Given the description of an element on the screen output the (x, y) to click on. 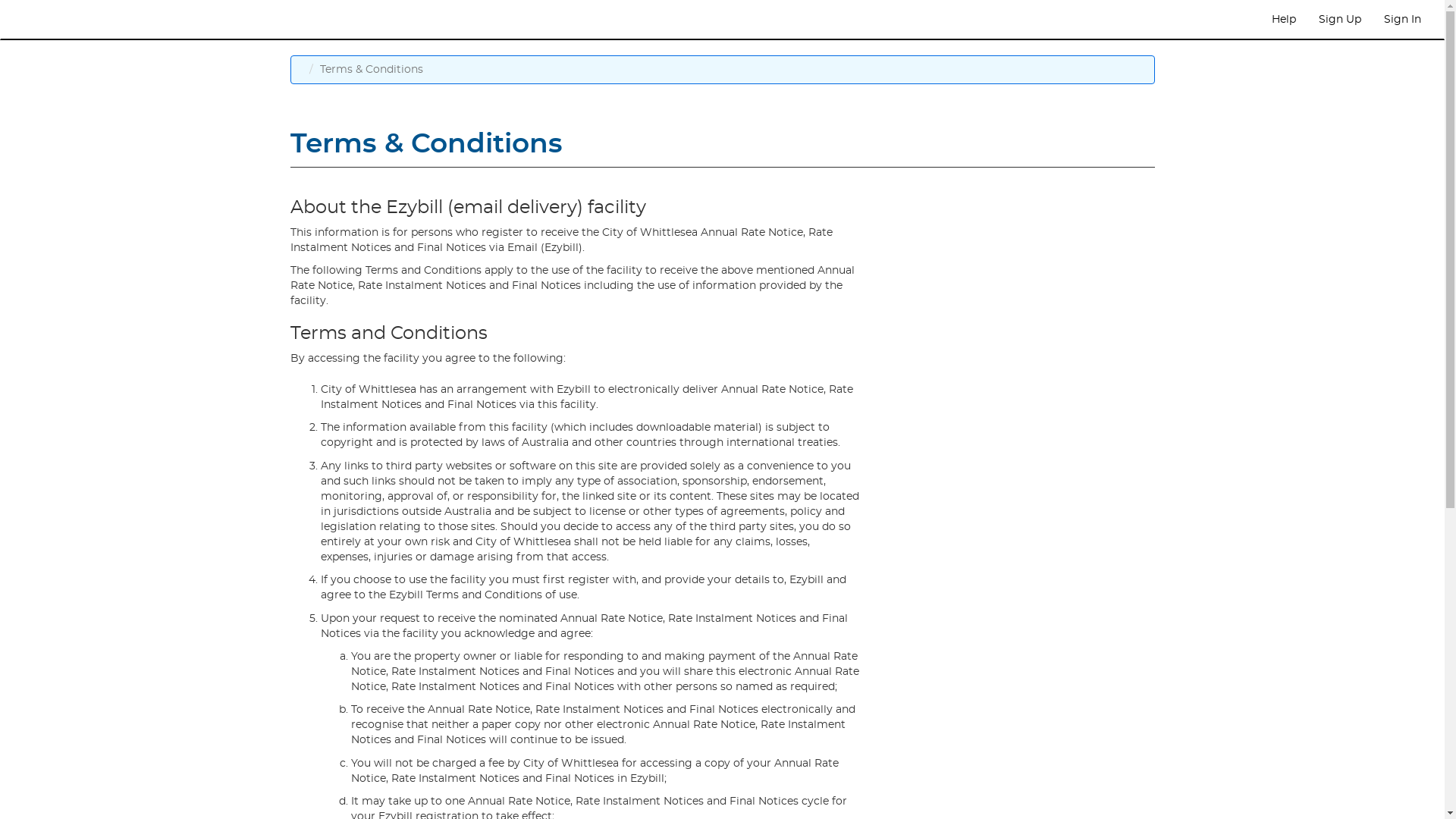
Sign In Element type: text (1402, 19)
City of Whittlesea Element type: text (68, 19)
Sign Up Element type: text (1339, 19)
Help Element type: text (1283, 19)
